Given the description of an element on the screen output the (x, y) to click on. 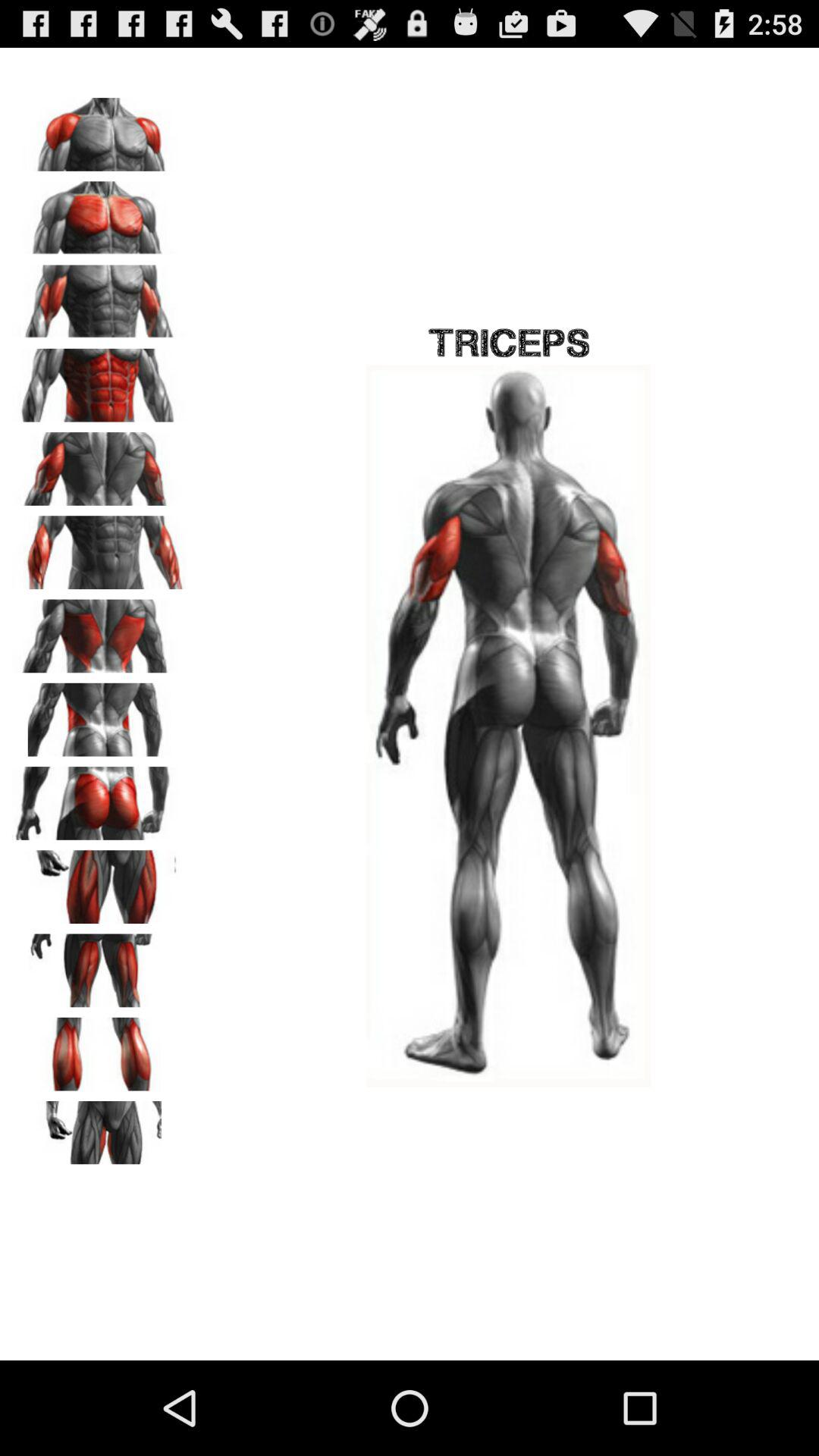
view muscle group (99, 212)
